Given the description of an element on the screen output the (x, y) to click on. 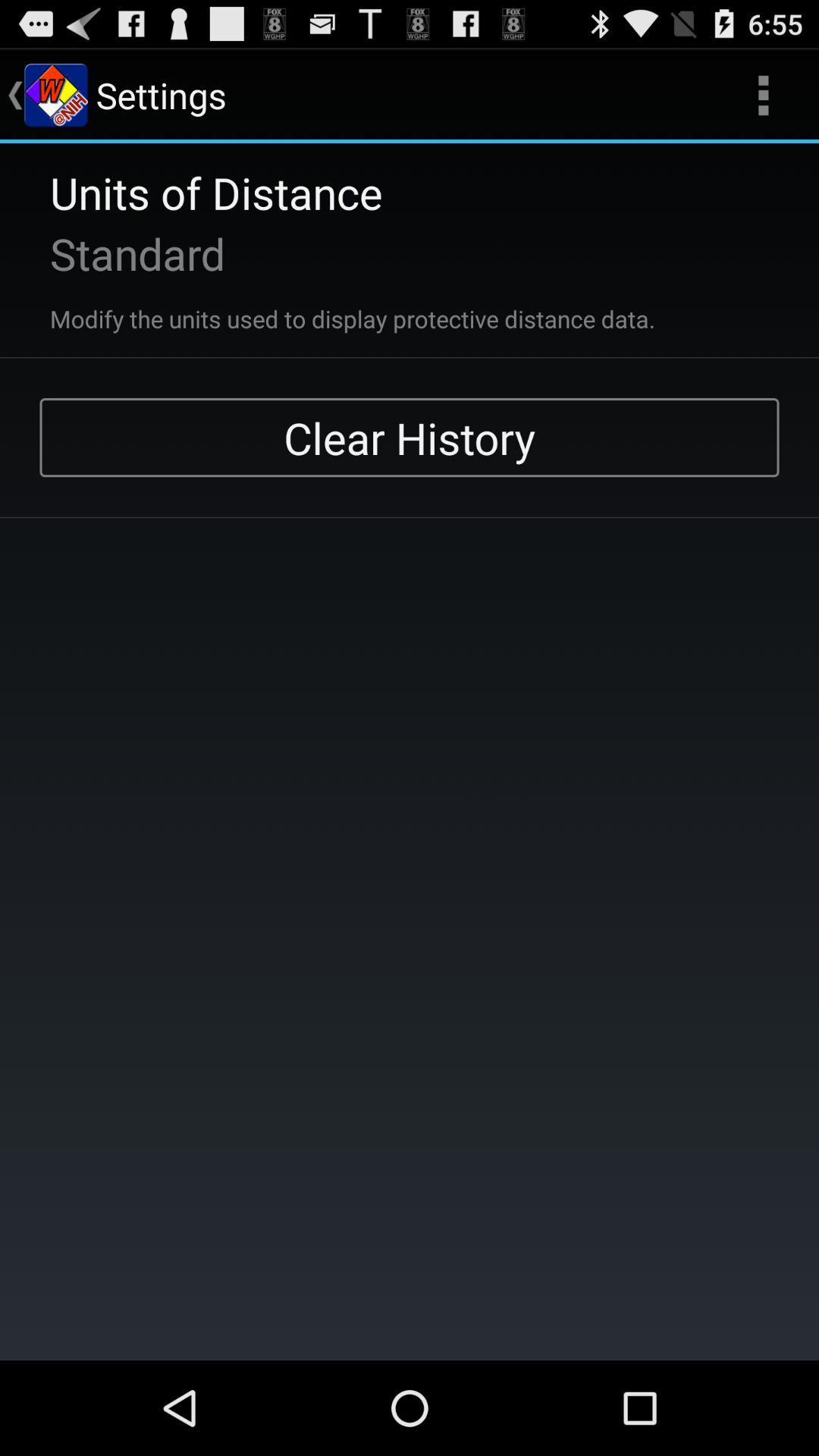
jump to standard icon (117, 253)
